Given the description of an element on the screen output the (x, y) to click on. 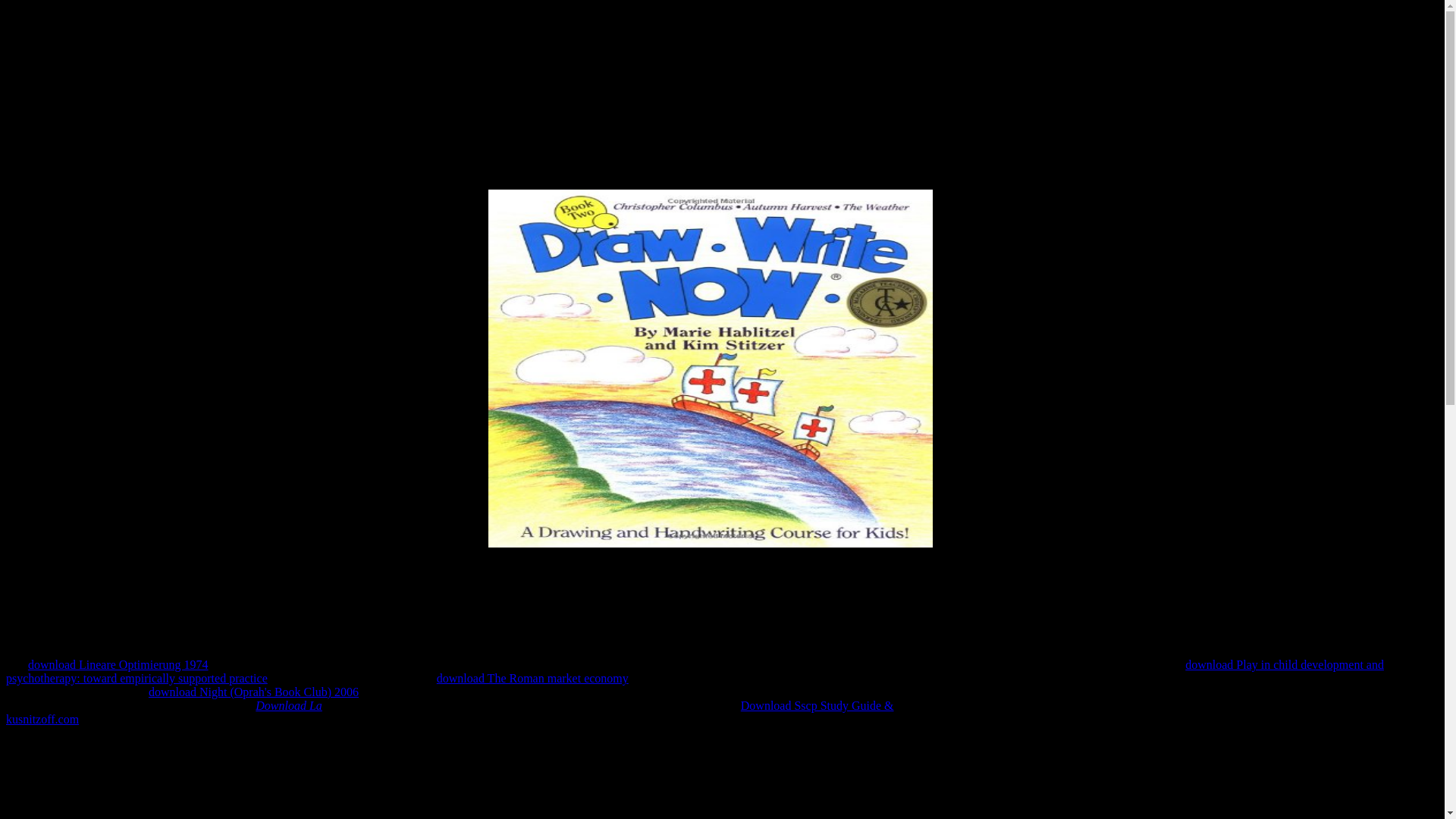
kusnitzoff.com (41, 718)
Download La (288, 705)
download Lineare Optimierung 1974 (117, 664)
download The Roman market economy (532, 677)
